Given the description of an element on the screen output the (x, y) to click on. 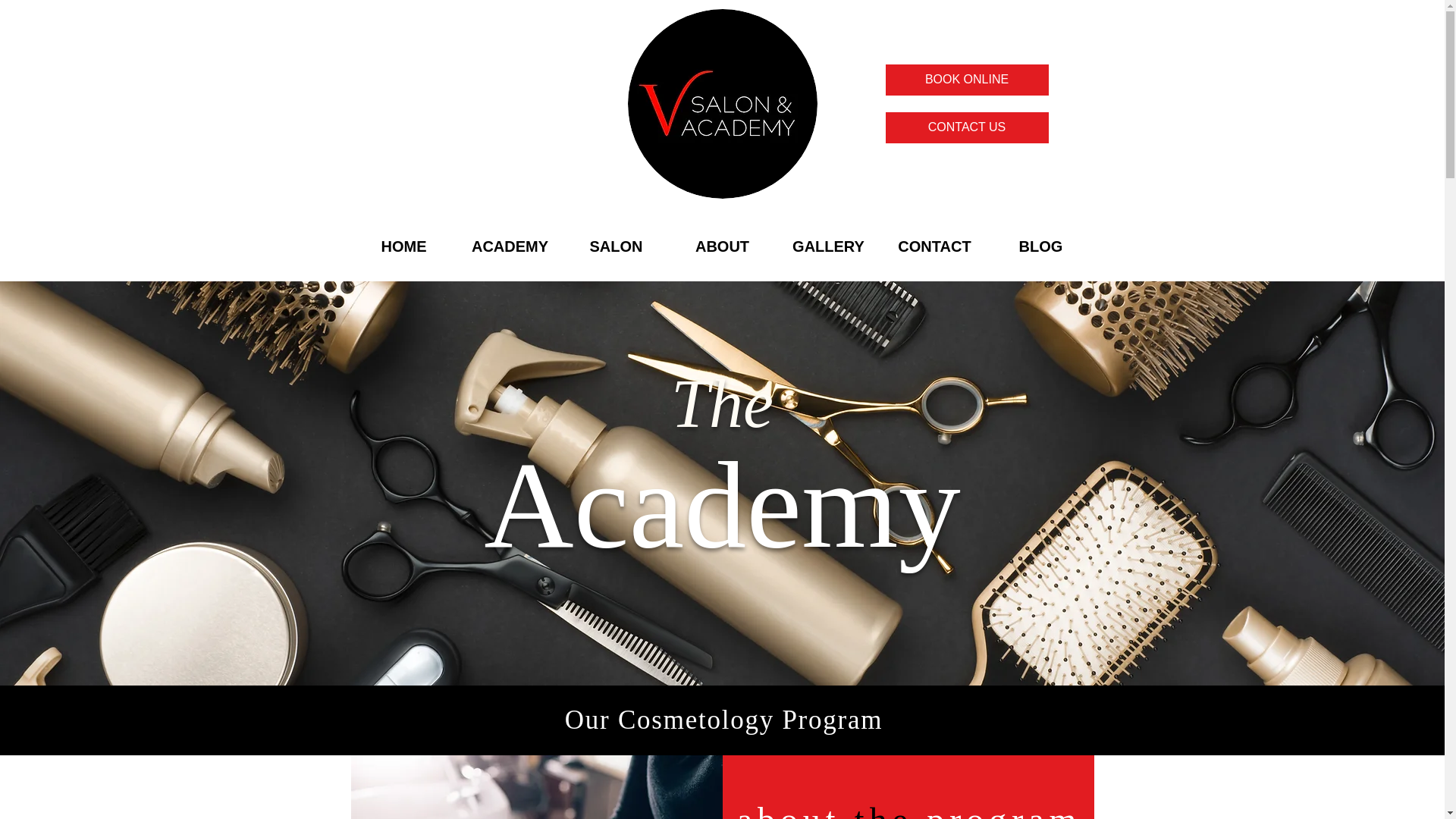
SALON (615, 246)
ABOUT (721, 246)
HOME (403, 246)
GALLERY (827, 246)
BLOG (1040, 246)
CONTACT US (966, 127)
ACADEMY (509, 246)
BOOK ONLINE (966, 79)
CONTACT (933, 246)
